Given the description of an element on the screen output the (x, y) to click on. 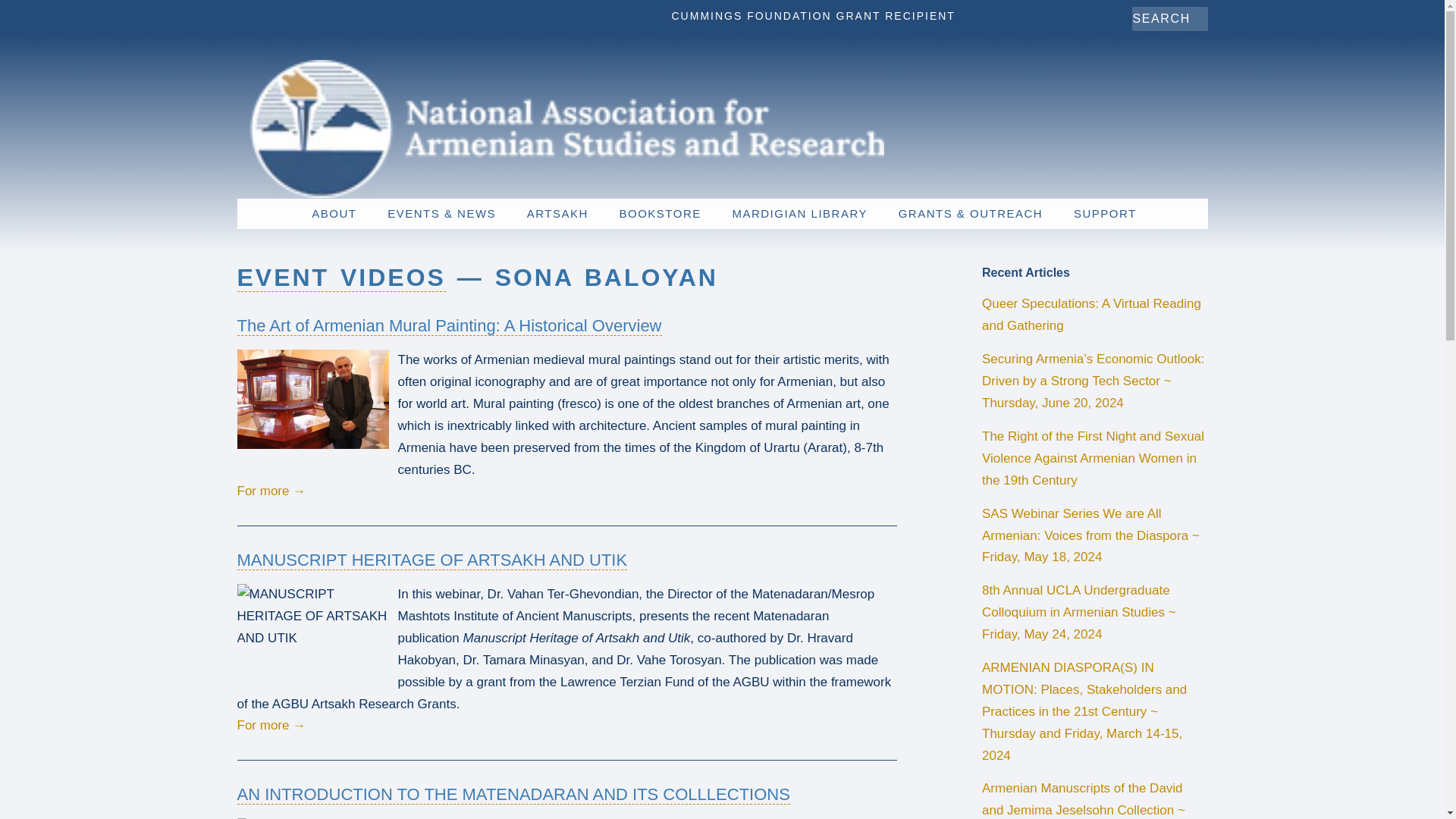
SEARCH (1146, 18)
CUMMINGS FOUNDATION GRANT RECIPIENT (813, 15)
